Given the description of an element on the screen output the (x, y) to click on. 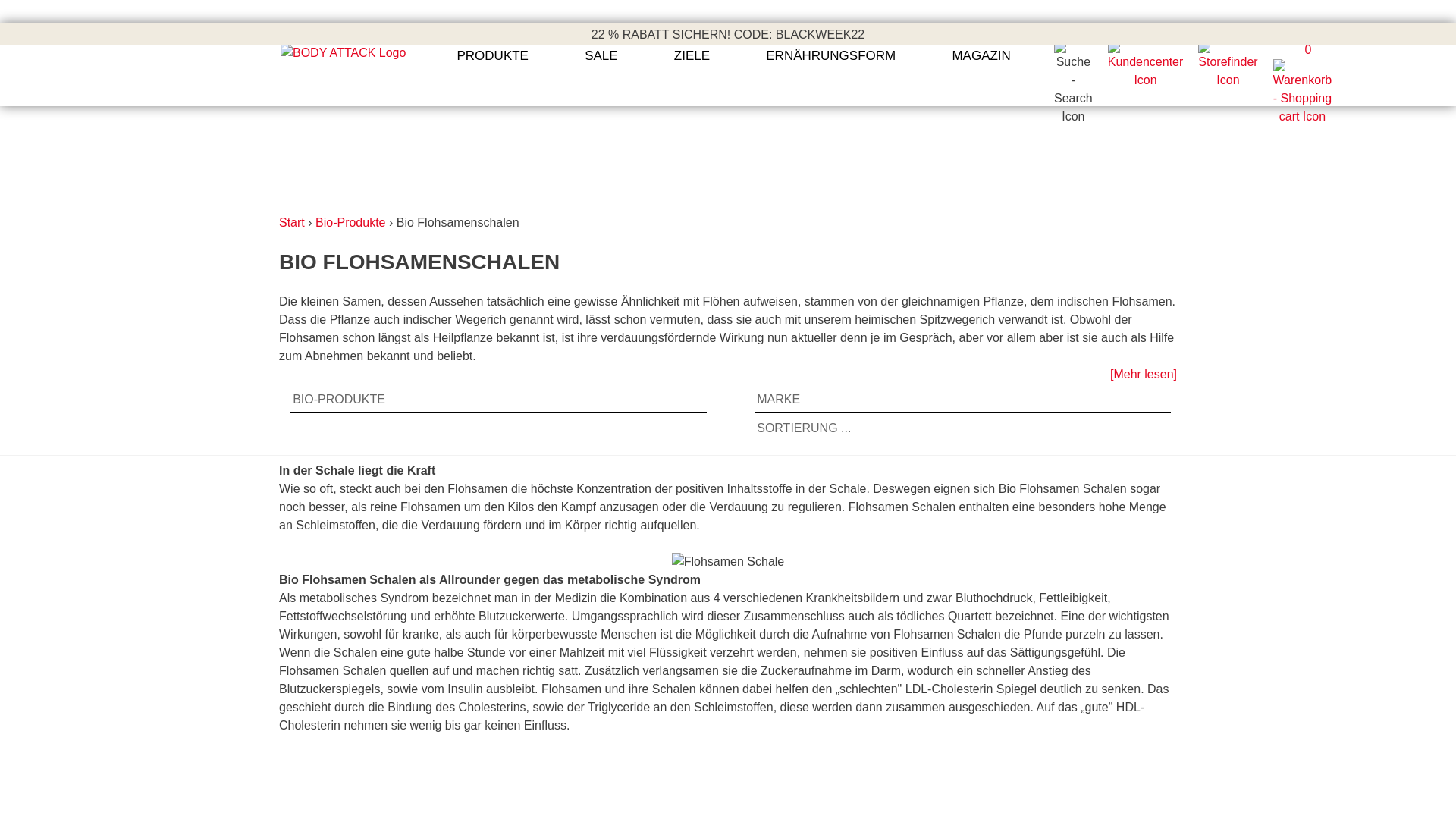
SALE Element type: text (600, 64)
Bio-Produkte Element type: text (350, 222)
0 Element type: text (1308, 82)
Bio Flohsamenschalen Element type: text (457, 222)
ZIELE Element type: text (691, 64)
[Mehr lesen] Element type: text (1143, 374)
Kundencenter Element type: hover (1145, 82)
Bio Flohsamen Schale Element type: hover (727, 561)
Start Element type: text (291, 222)
MAGAZIN Element type: text (980, 64)
Storefinder Element type: hover (1227, 82)
Suche Element type: hover (1073, 115)
PRODUKTE Element type: text (492, 64)
